Given the description of an element on the screen output the (x, y) to click on. 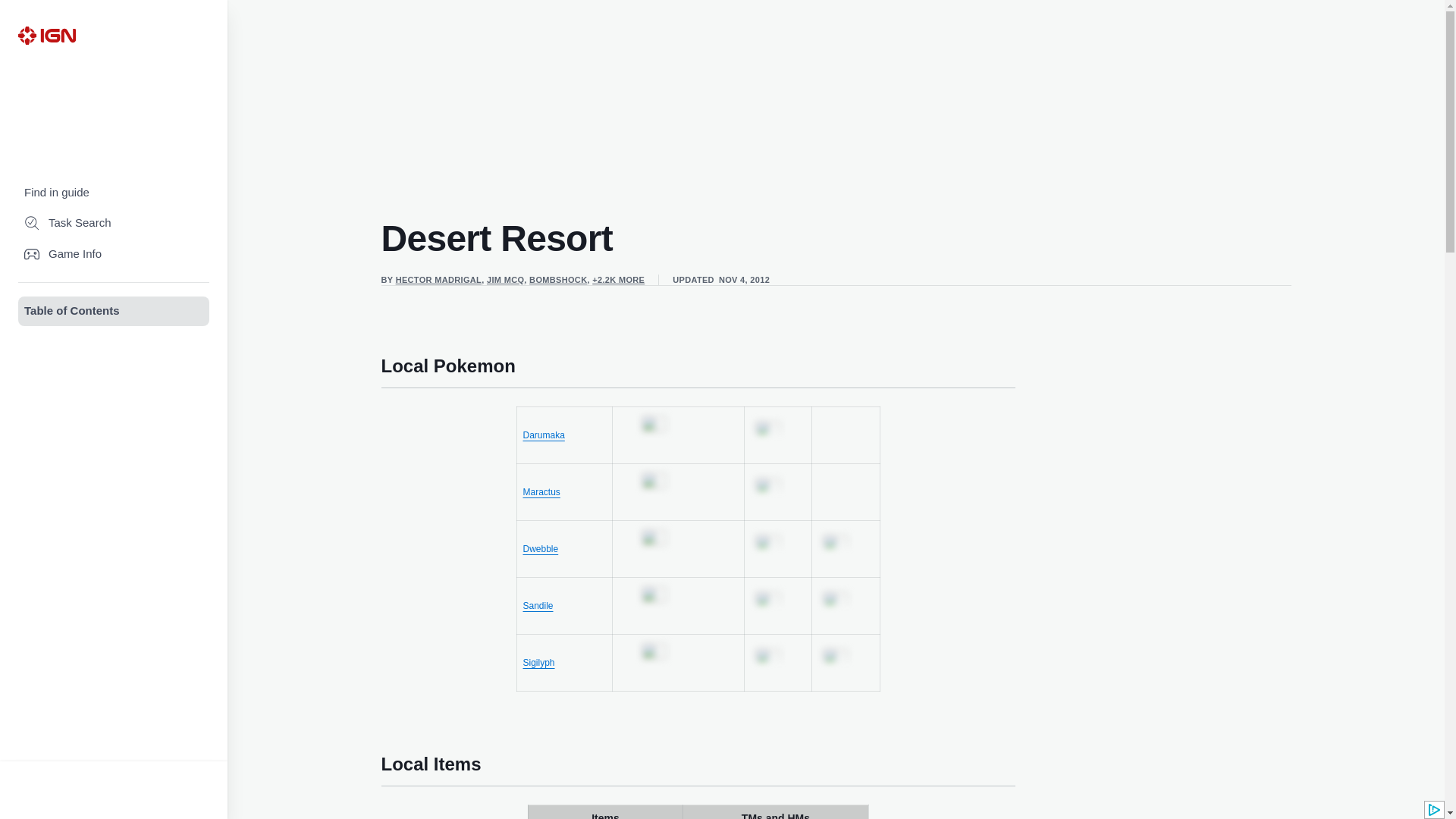
HECTOR MADRIGAL (438, 279)
Task Search (113, 223)
Game Info (113, 254)
Table of Contents (113, 310)
BOMBSHOCK (557, 279)
Game Info (113, 254)
Task Search (113, 223)
IGN Logo (46, 34)
Find in guide (113, 193)
IGN (46, 35)
Maractus (541, 491)
Find in guide (113, 193)
Table of Contents (113, 310)
IGN Logo (46, 35)
Darumaka (543, 434)
